Given the description of an element on the screen output the (x, y) to click on. 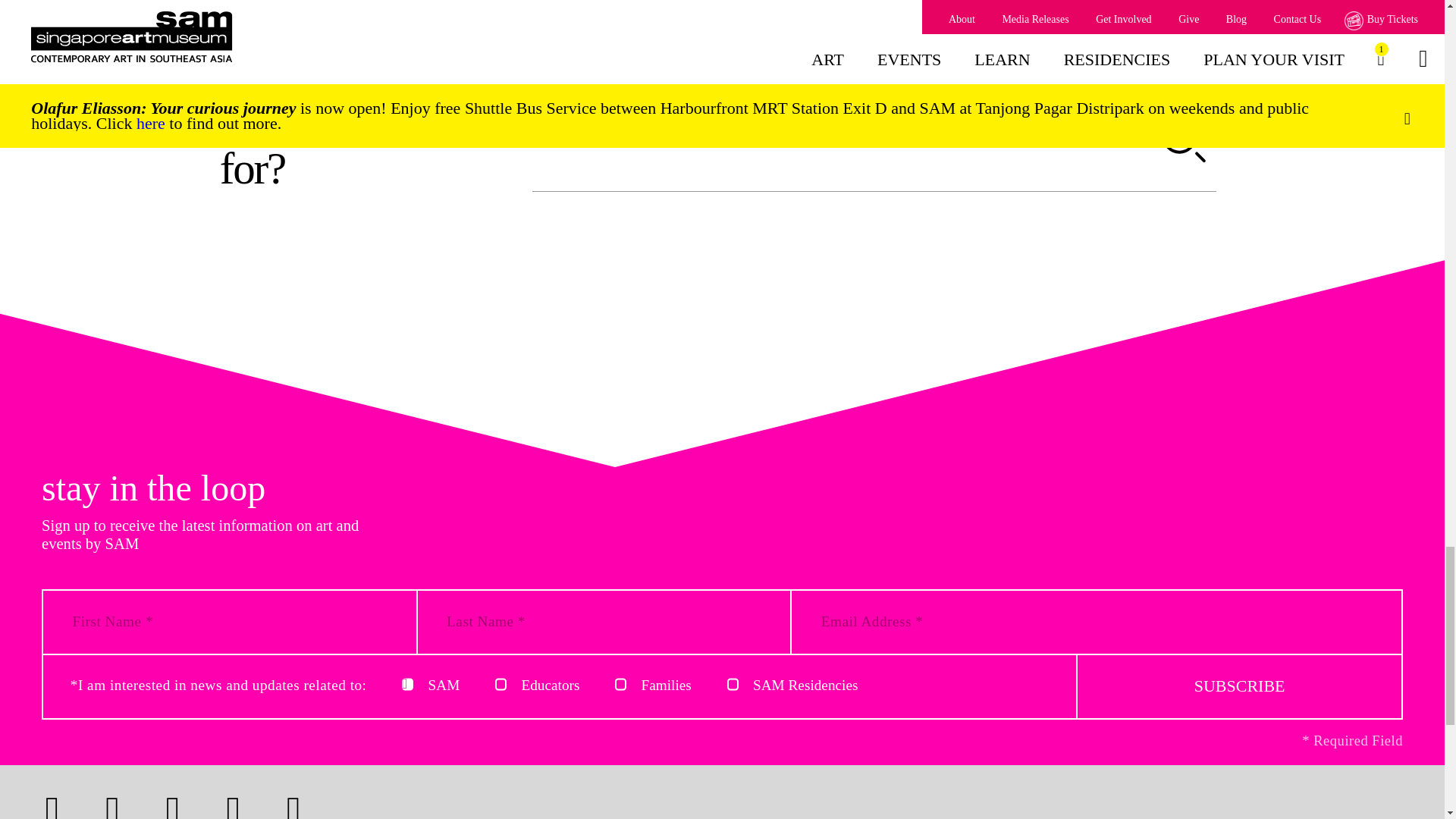
Subscribe (1238, 686)
Search Form (873, 142)
search (1184, 142)
